Given the description of an element on the screen output the (x, y) to click on. 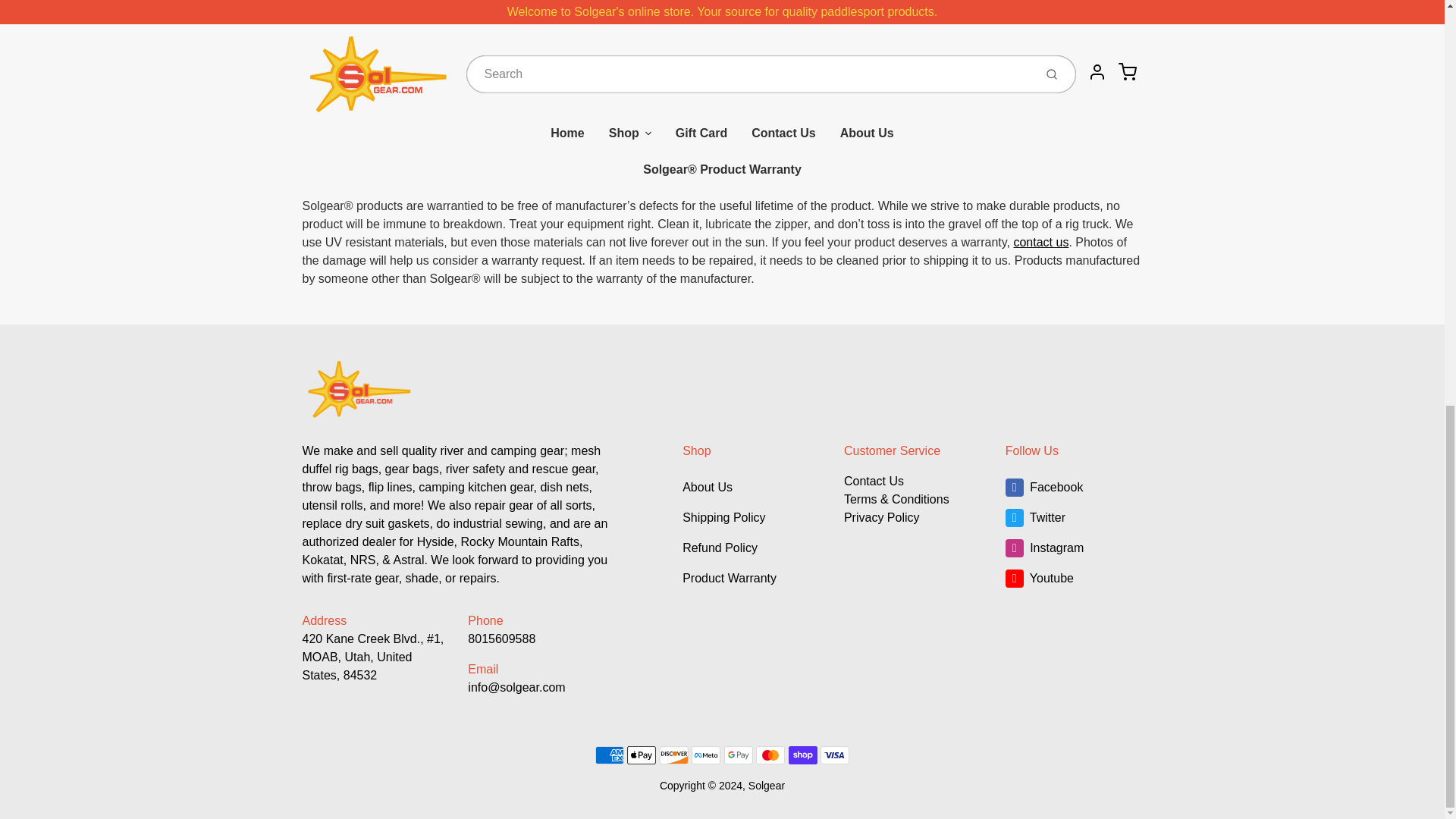
Contact Us (874, 481)
Shop Pay (802, 755)
Privacy Policy (882, 517)
Mastercard (769, 755)
Apple Pay (641, 755)
Google Pay (737, 755)
Visa (834, 755)
Contact Solgear (1040, 241)
American Express (609, 755)
Discover (673, 755)
Meta Pay (705, 755)
Terms of Service (896, 499)
